Given the description of an element on the screen output the (x, y) to click on. 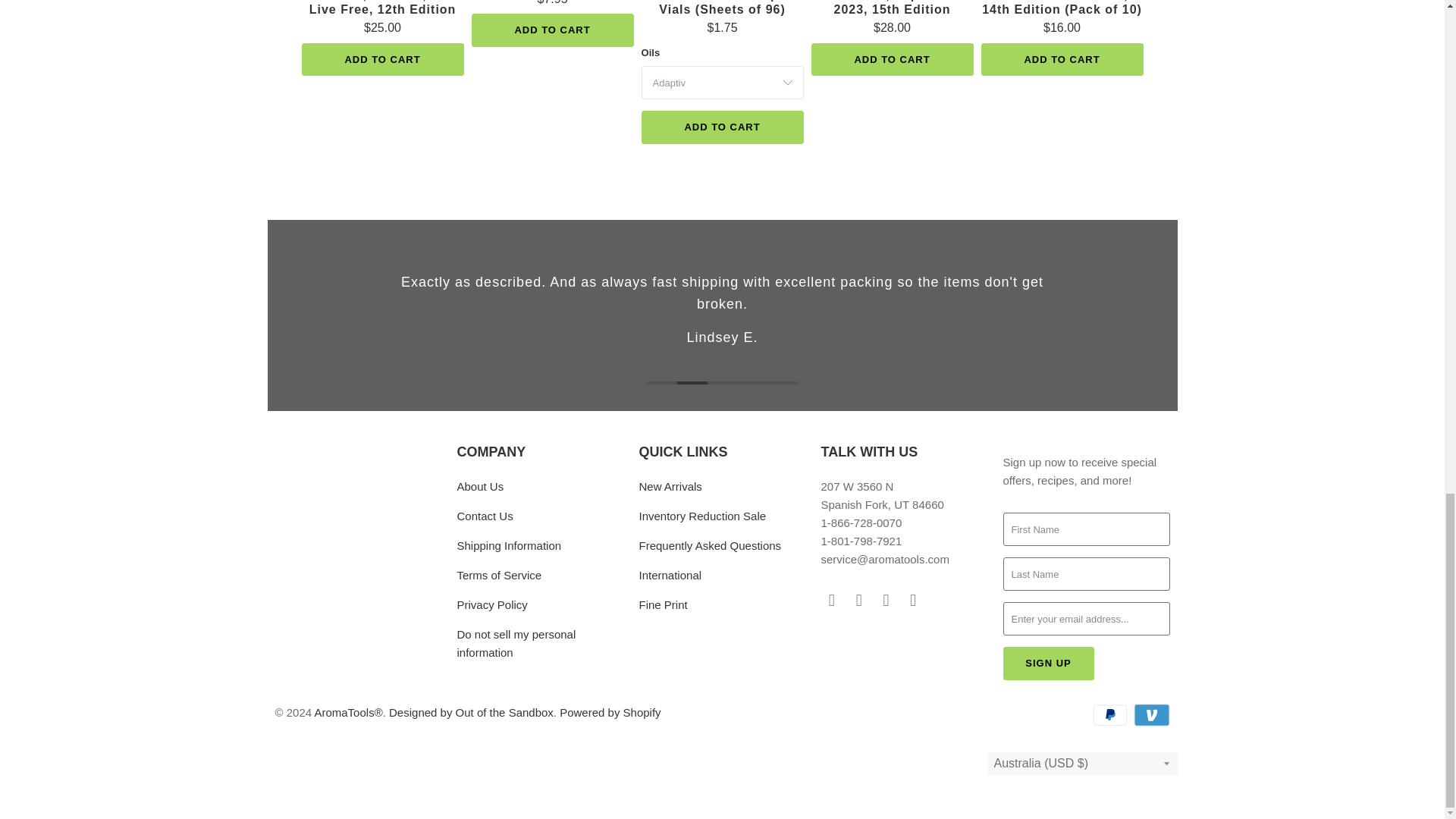
Sign Up (1048, 663)
Venmo (1150, 714)
PayPal (1111, 714)
